Given the description of an element on the screen output the (x, y) to click on. 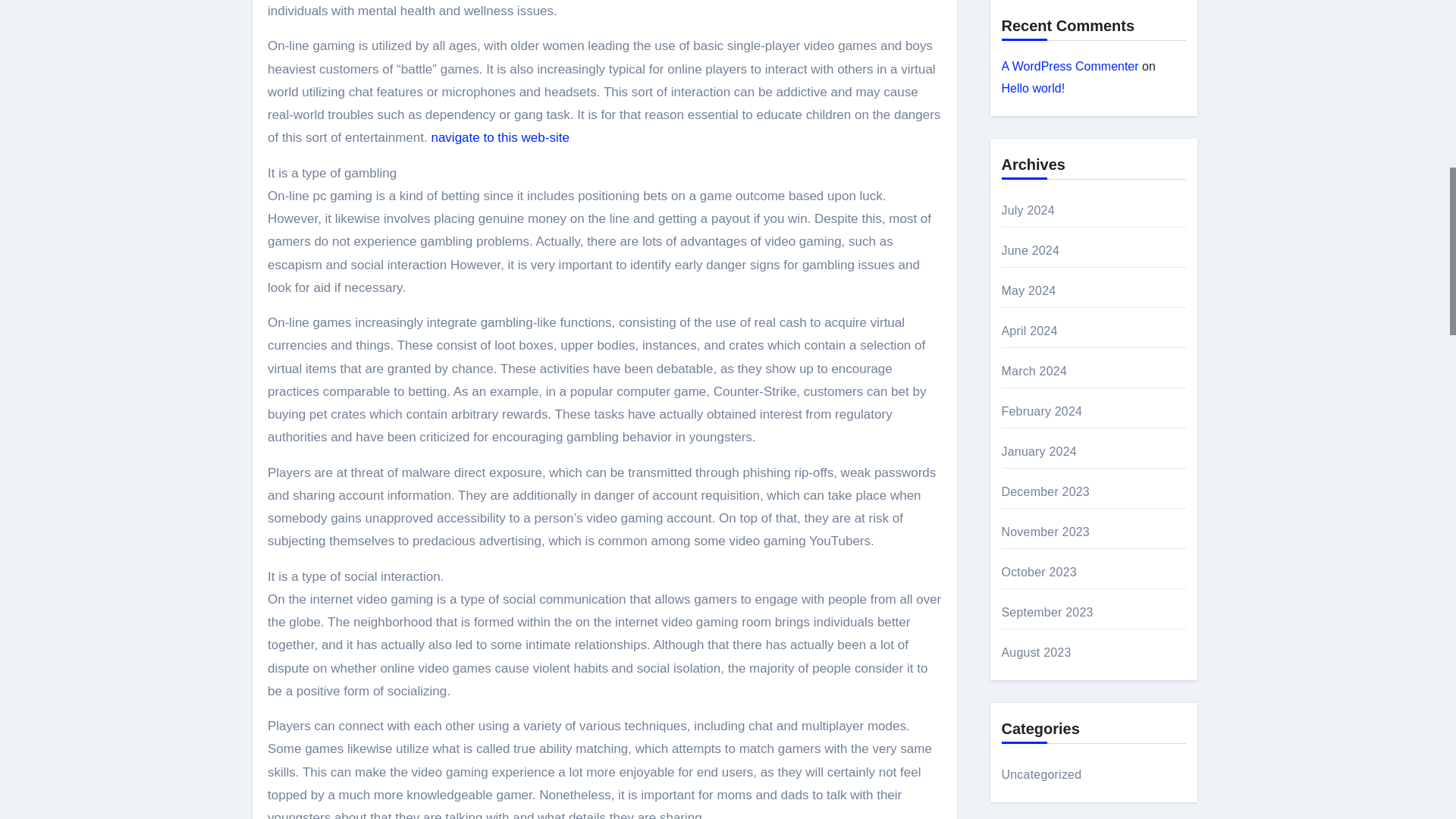
navigate to this web-site (499, 137)
